Given the description of an element on the screen output the (x, y) to click on. 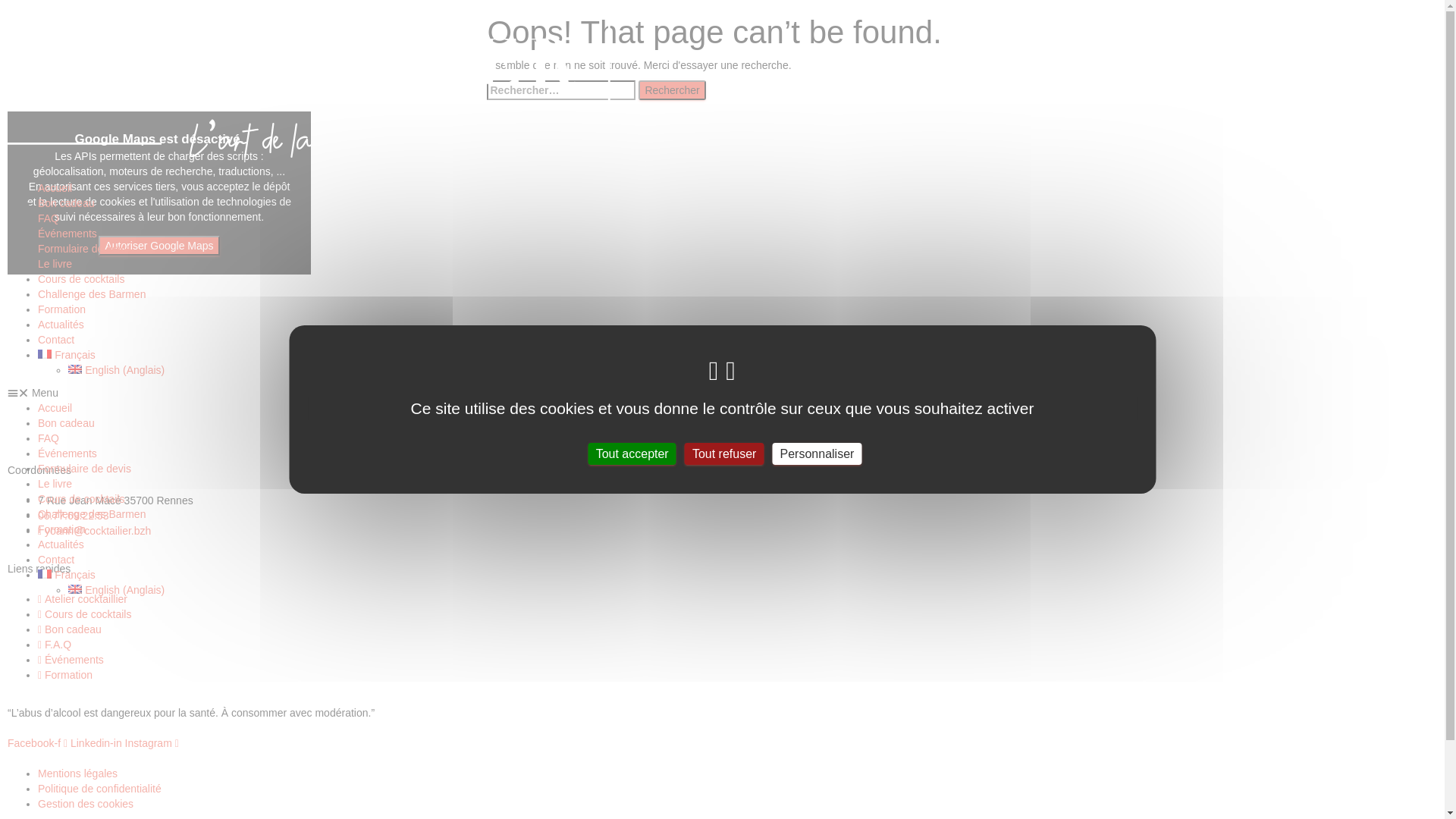
Bon cadeau Element type: text (65, 203)
Formulaire de devis Element type: text (84, 468)
Challenge des Barmen Element type: text (91, 514)
Tout refuser Element type: text (723, 453)
Autoriser Google Maps Element type: text (158, 245)
Accueil Element type: text (54, 188)
06.77.69.22.53 Element type: text (72, 515)
Bon cadeau Element type: text (69, 629)
Le livre Element type: text (54, 263)
Formation Element type: text (61, 529)
Contact Element type: text (55, 339)
Le livre Element type: text (54, 483)
FAQ Element type: text (48, 438)
Formation Element type: text (64, 674)
FAQ Element type: text (48, 218)
Rechercher Element type: text (671, 90)
Accueil Element type: text (54, 407)
Contact Element type: text (55, 559)
Tout accepter Element type: text (632, 453)
Facebook-f Element type: text (38, 743)
Personnaliser Element type: text (817, 453)
Cours de cocktails Element type: text (80, 279)
Bon cadeau Element type: text (65, 423)
Formation Element type: text (61, 309)
yoann@cocktailier.bzh Element type: text (93, 530)
Cours de cocktails Element type: text (84, 614)
Cours de cocktails Element type: text (80, 498)
Atelier cocktaillier Element type: text (82, 599)
Challenge des Barmen Element type: text (91, 294)
Linkedin-in Element type: text (97, 743)
English (Anglais) Element type: text (116, 589)
English (Anglais) Element type: text (116, 370)
F.A.Q Element type: text (54, 644)
Formulaire de devis Element type: text (84, 248)
Instagram Element type: text (151, 743)
Gestion des cookies Element type: text (85, 803)
